Given the description of an element on the screen output the (x, y) to click on. 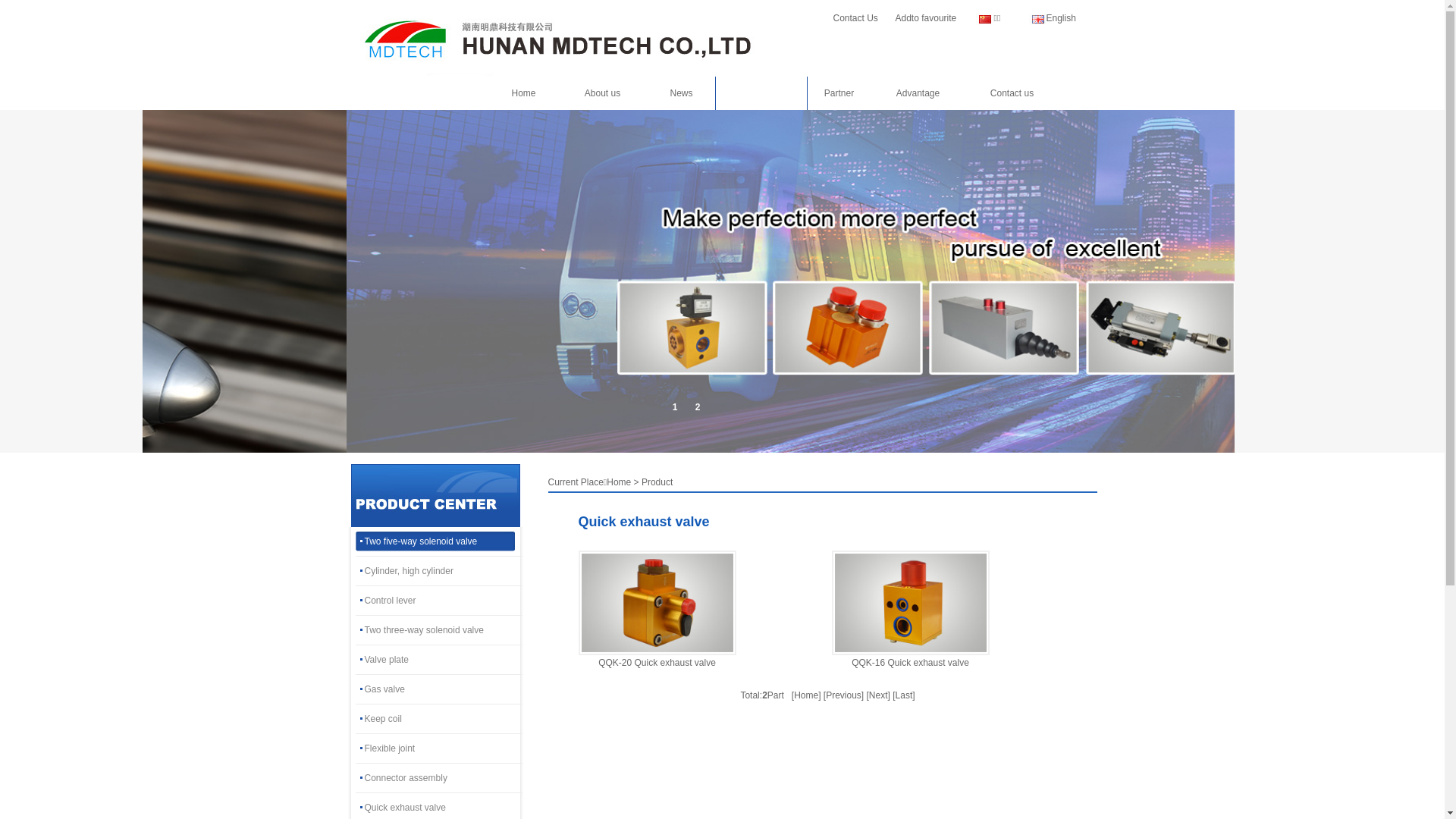
Product Element type: text (760, 92)
Flexible joint Element type: text (437, 748)
Cylinder, high cylinder Element type: text (437, 570)
QQK-16 Quick exhaust valve Element type: text (910, 662)
1 Element type: text (674, 407)
Connector assembly Element type: text (437, 777)
About us Element type: text (601, 92)
English Element type: text (1061, 17)
Home Element type: text (522, 92)
QQK-20 Quick exhaust valve Element type: hover (656, 602)
Keep coil Element type: text (437, 718)
Addto favourite Element type: text (925, 17)
Two three-way solenoid valve Element type: text (437, 629)
QQK-16 Quick exhaust valve Element type: hover (909, 602)
Control lever Element type: text (437, 600)
Two five-way solenoid valve Element type: text (437, 541)
2 Element type: text (697, 407)
Partner Element type: text (838, 92)
Valve plate Element type: text (437, 659)
Contact Us Element type: text (854, 17)
News Element type: text (680, 92)
Contact us Element type: text (1011, 92)
QQK-20 Quick exhaust valve Element type: text (656, 662)
Advantage Element type: text (917, 92)
Gas valve Element type: text (437, 688)
